Given the description of an element on the screen output the (x, y) to click on. 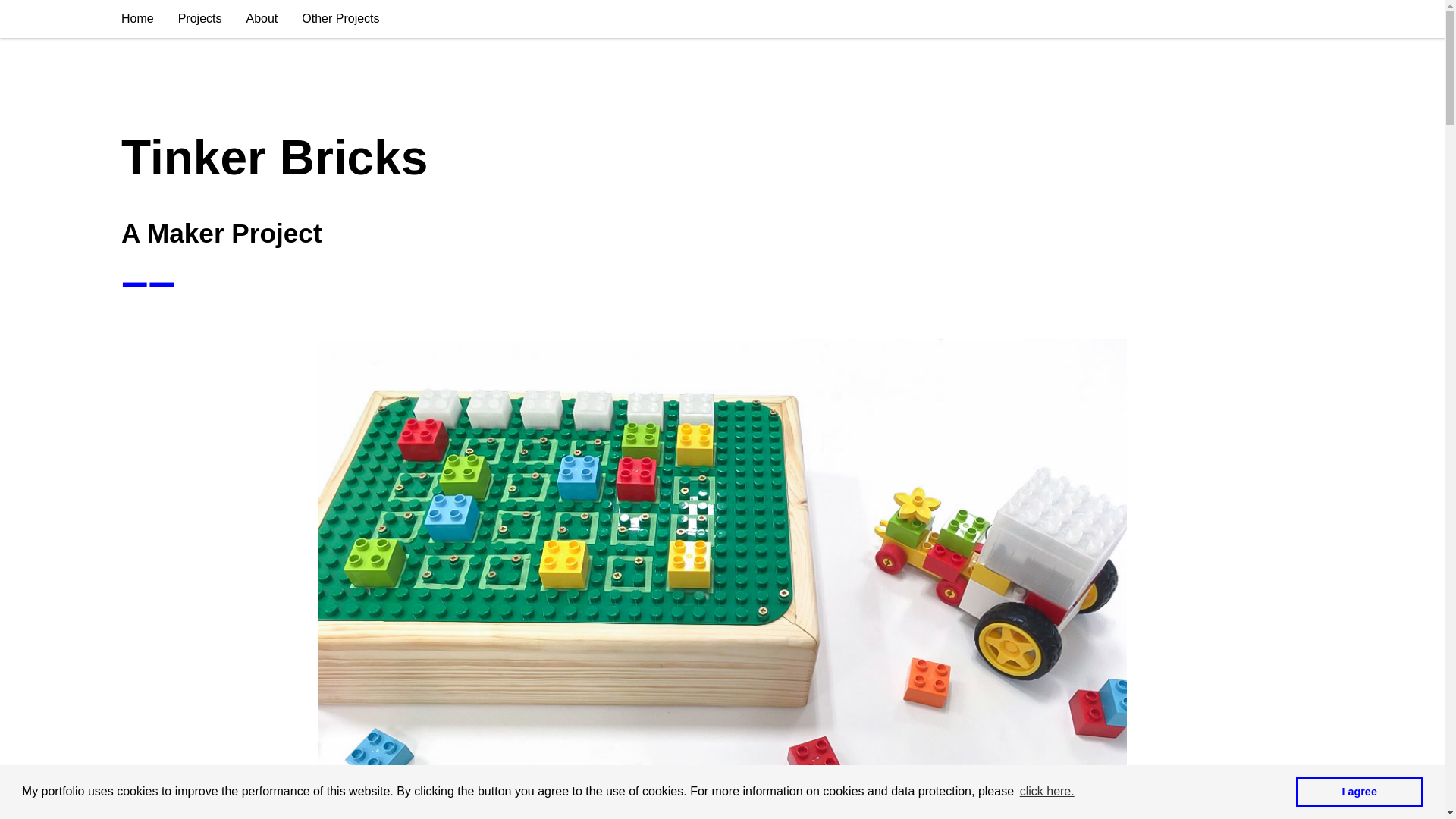
Other Projects (340, 18)
About (260, 18)
Projects (199, 18)
click here. (1047, 791)
I agree (1358, 791)
Home (137, 18)
